Given the description of an element on the screen output the (x, y) to click on. 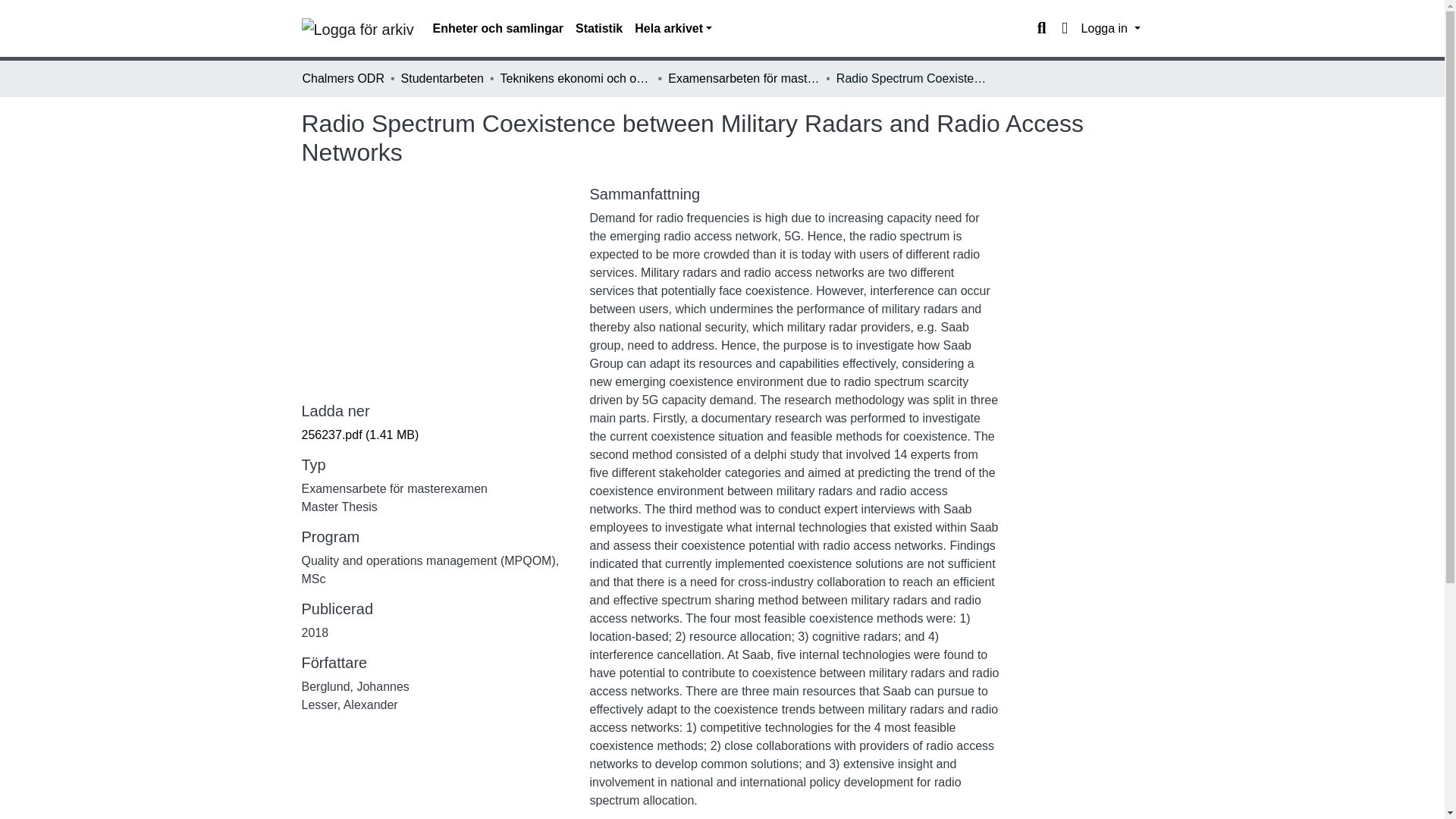
Logga in (1110, 28)
Chalmers ODR (342, 78)
Teknikens ekonomi och organisation (576, 78)
Enheter och samlingar (497, 28)
Hela arkivet (672, 28)
Enheter och samlingar (497, 28)
Statistik (598, 28)
Statistik (598, 28)
Studentarbeten (442, 78)
